Given the description of an element on the screen output the (x, y) to click on. 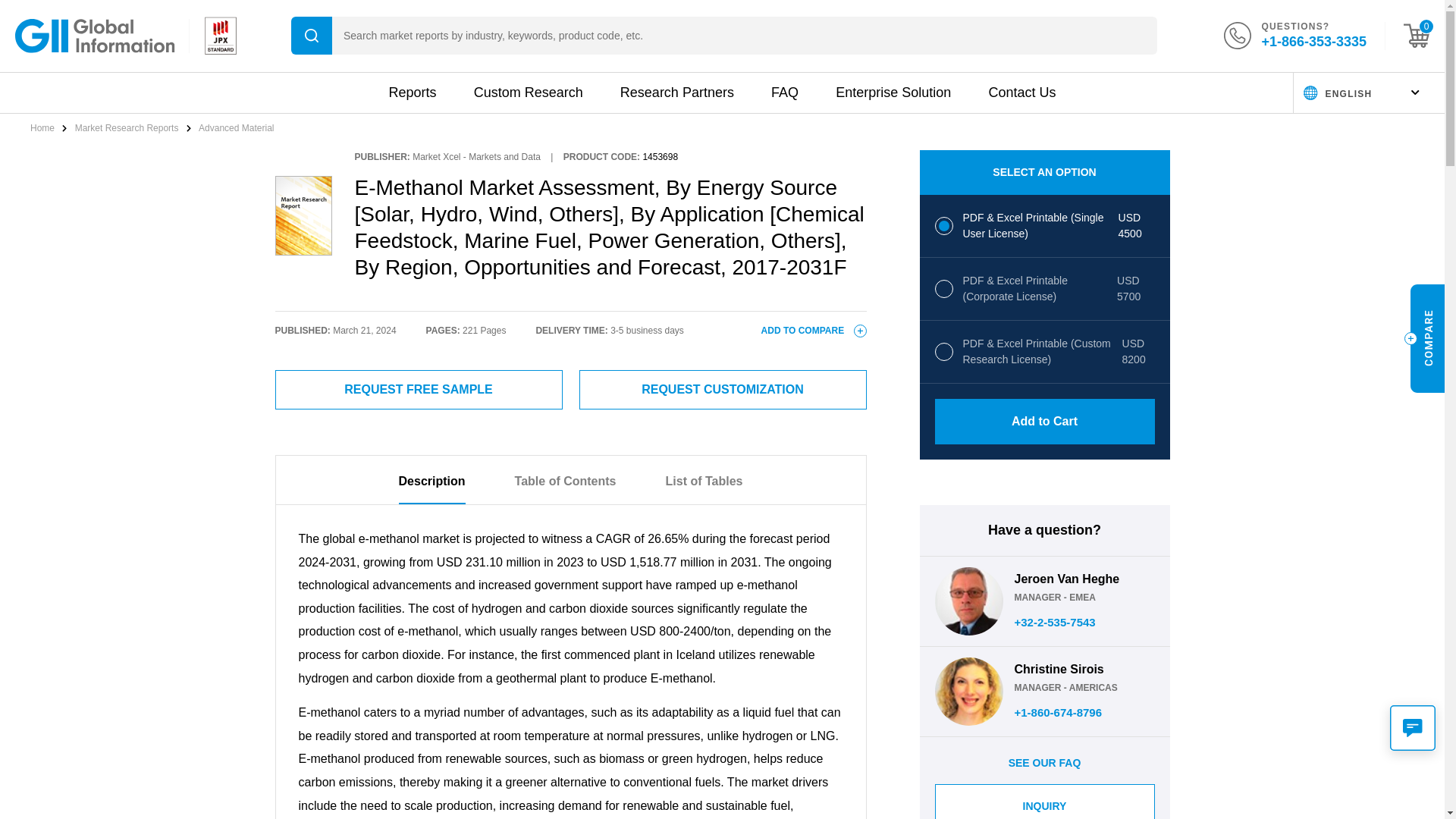
Enterprise Solution (892, 92)
Contact Us (1021, 92)
Market Research Reports (127, 127)
Table of Contents (565, 489)
Custom Research (528, 92)
Advanced Material (235, 127)
REQUEST FREE SAMPLE (418, 389)
REQUEST CUSTOMIZATION (722, 389)
ADD TO COMPARE (813, 330)
Home (43, 127)
FAQ (784, 92)
Reports (411, 92)
List of Tables (703, 489)
Research Partners (676, 92)
0 (1416, 35)
